Given the description of an element on the screen output the (x, y) to click on. 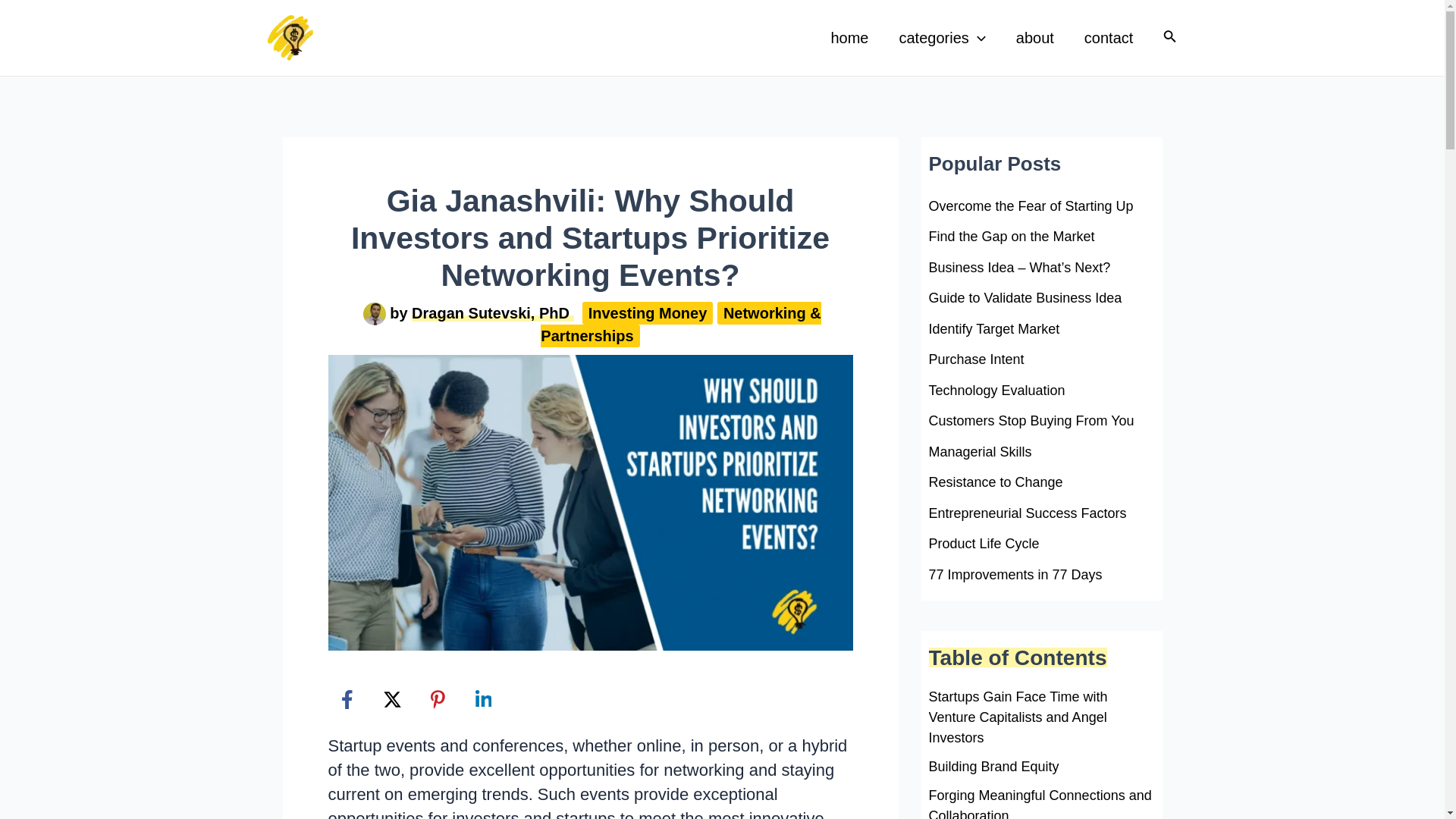
categories (941, 37)
Forging Meaningful Connections and Collaboration (1041, 802)
Investing Money (647, 313)
contact (1108, 37)
View all posts by Dragan Sutevski, PhD (492, 312)
Dragan Sutevski, PhD (492, 312)
Building Brand Equity (993, 766)
about (1034, 37)
home (849, 37)
